Given the description of an element on the screen output the (x, y) to click on. 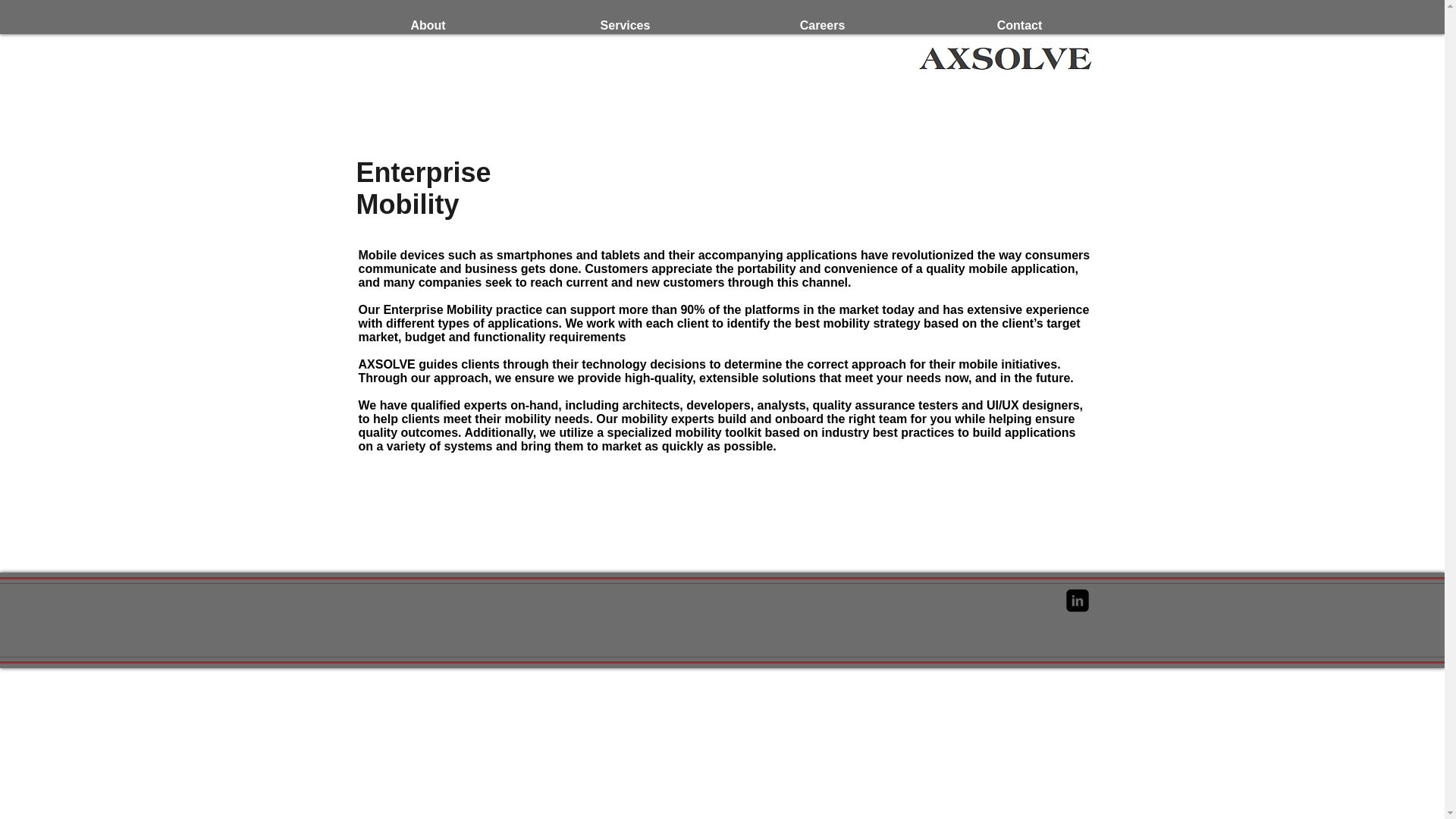
Contact (1019, 22)
Careers (821, 22)
About (427, 22)
AXSOLVE - Consulting Services (1005, 57)
Services (624, 22)
